Given the description of an element on the screen output the (x, y) to click on. 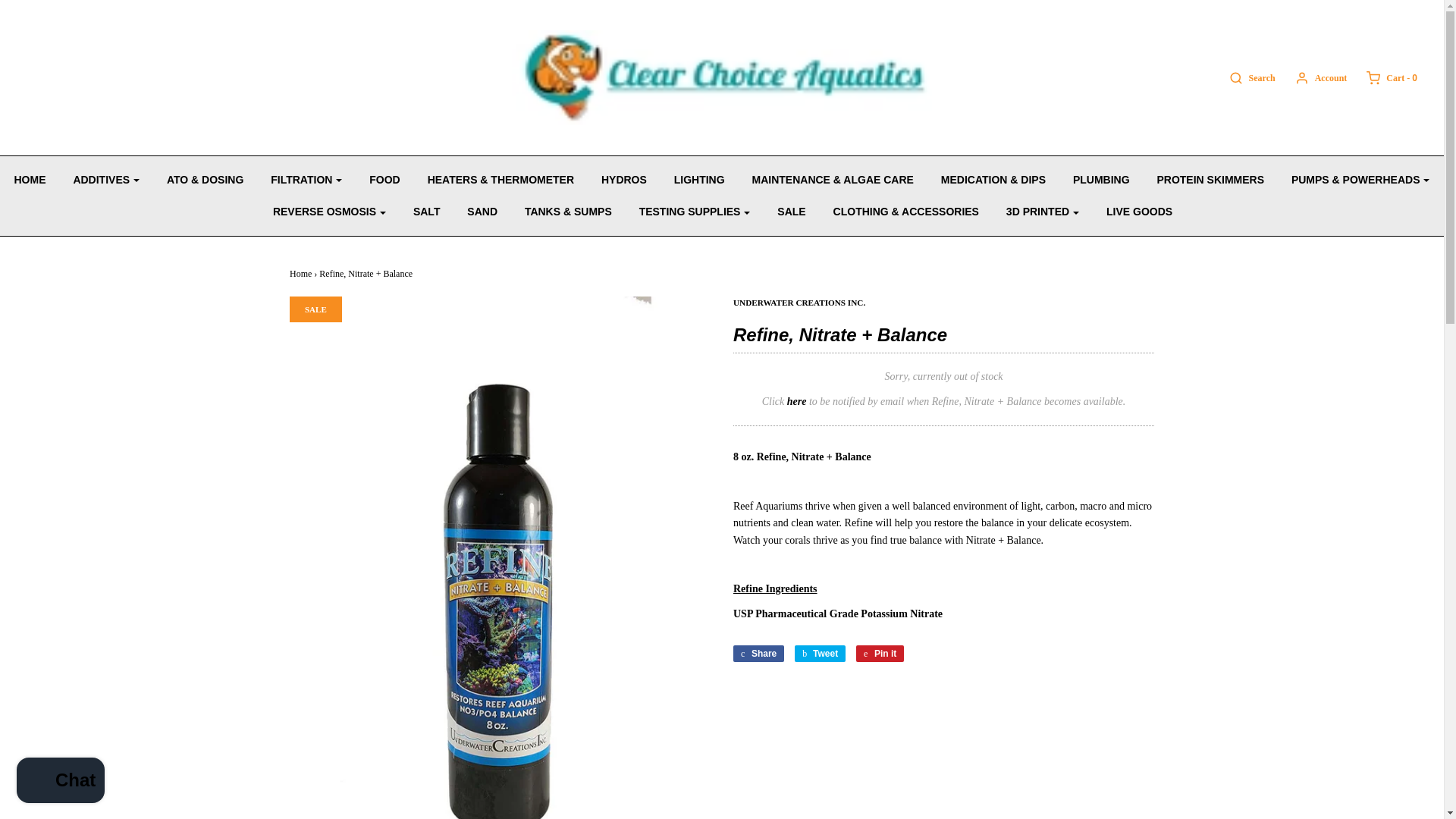
LIGHTING (699, 179)
HOME (30, 179)
ADDITIVES (106, 179)
Back to the frontpage (300, 273)
FILTRATION (306, 179)
PLUMBING (1101, 179)
HYDROS (623, 179)
PROTEIN SKIMMERS (1209, 179)
Cart (1382, 78)
Account (1313, 78)
